Given the description of an element on the screen output the (x, y) to click on. 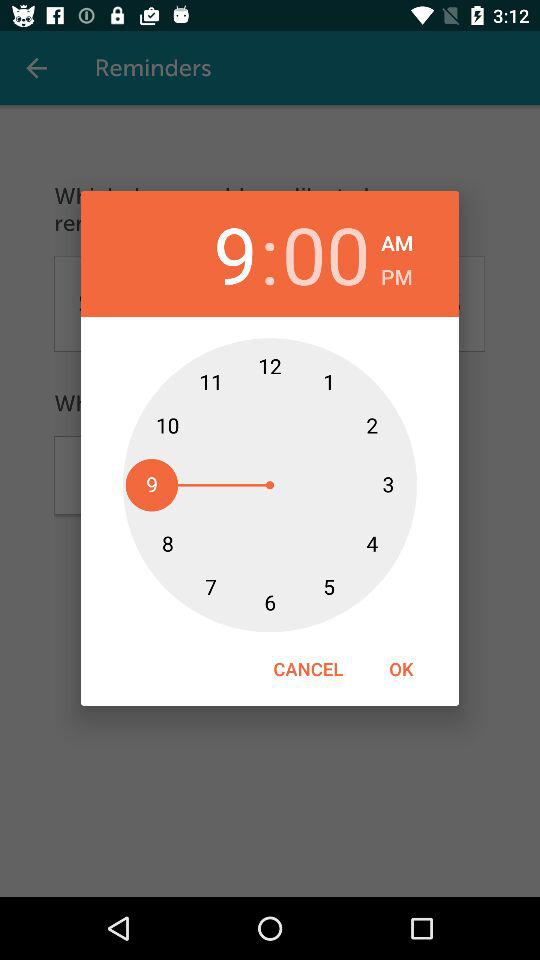
open icon to the right of the cancel item (401, 668)
